Given the description of an element on the screen output the (x, y) to click on. 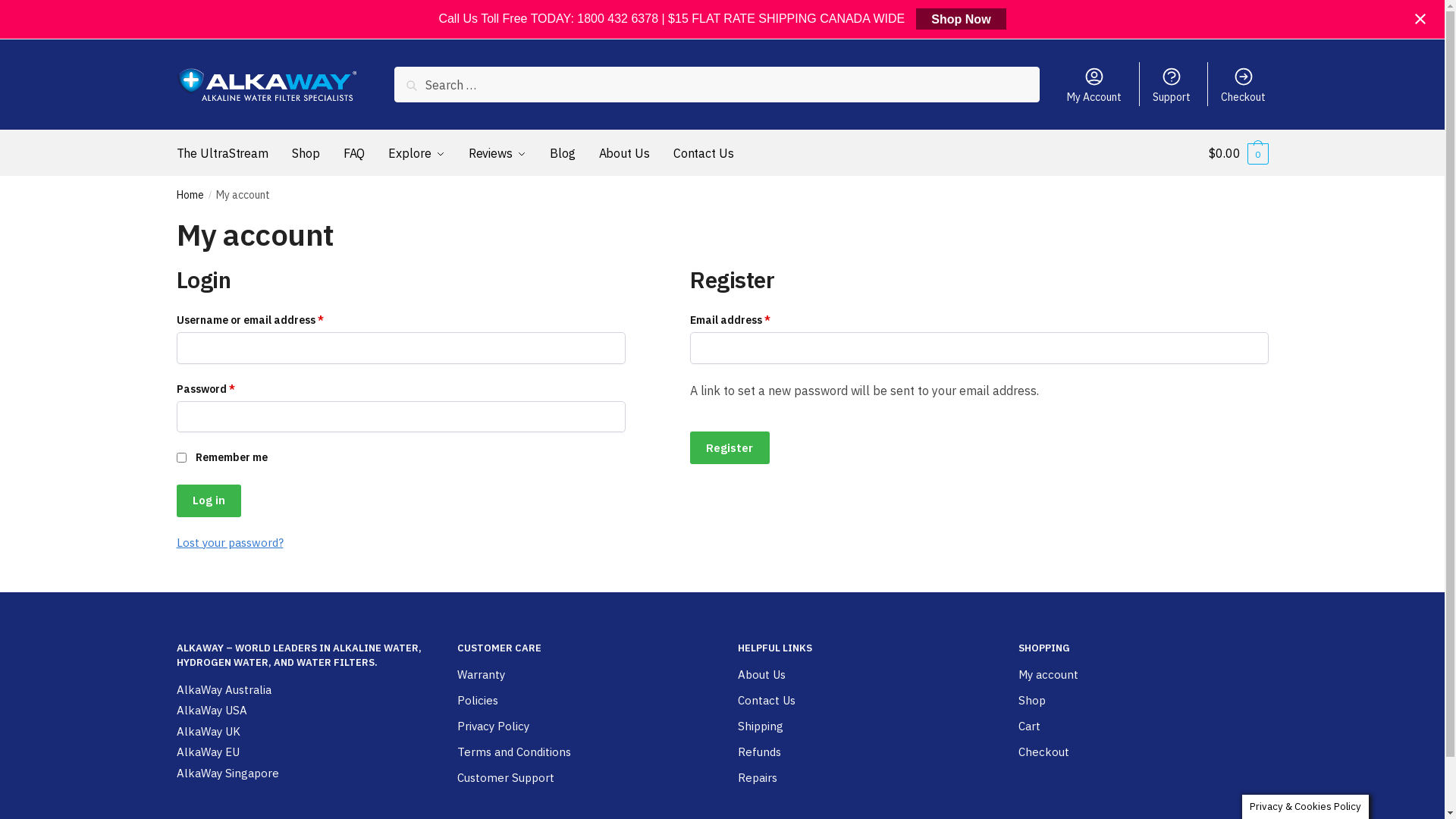
FAQ Element type: text (354, 152)
Contact Us Element type: text (765, 700)
Search Element type: text (429, 88)
Privacy Policy Element type: text (492, 726)
Home Element type: text (189, 194)
Refunds Element type: text (758, 752)
Customer Support Element type: text (504, 778)
Checkout Element type: text (1042, 752)
Shop Element type: text (1030, 700)
Support Element type: text (1171, 84)
Log in Element type: text (207, 500)
Contact Us Element type: text (703, 152)
AlkaWay Australia Element type: text (222, 690)
Terms and Conditions Element type: text (513, 752)
The UltraStream Element type: text (224, 152)
Shop Now Element type: text (960, 18)
My Account Element type: text (1094, 84)
AlkaWay Singapore Element type: text (226, 773)
Explore Element type: text (416, 152)
Reviews Element type: text (497, 152)
Lost your password? Element type: text (228, 542)
AlkaWay EU Element type: text (206, 752)
Policies Element type: text (476, 700)
My account Element type: text (1047, 675)
Cart Element type: text (1028, 726)
About Us Element type: text (624, 152)
AlkaWay USA Element type: text (210, 710)
Blog Element type: text (562, 152)
Checkout Element type: text (1243, 84)
Shipping Element type: text (759, 726)
Warranty Element type: text (480, 675)
Register Element type: text (729, 447)
Shop Element type: text (305, 152)
About Us Element type: text (760, 675)
AlkaWay UK Element type: text (207, 731)
Repairs Element type: text (756, 778)
$0.00 0 Element type: text (1237, 152)
